Given the description of an element on the screen output the (x, y) to click on. 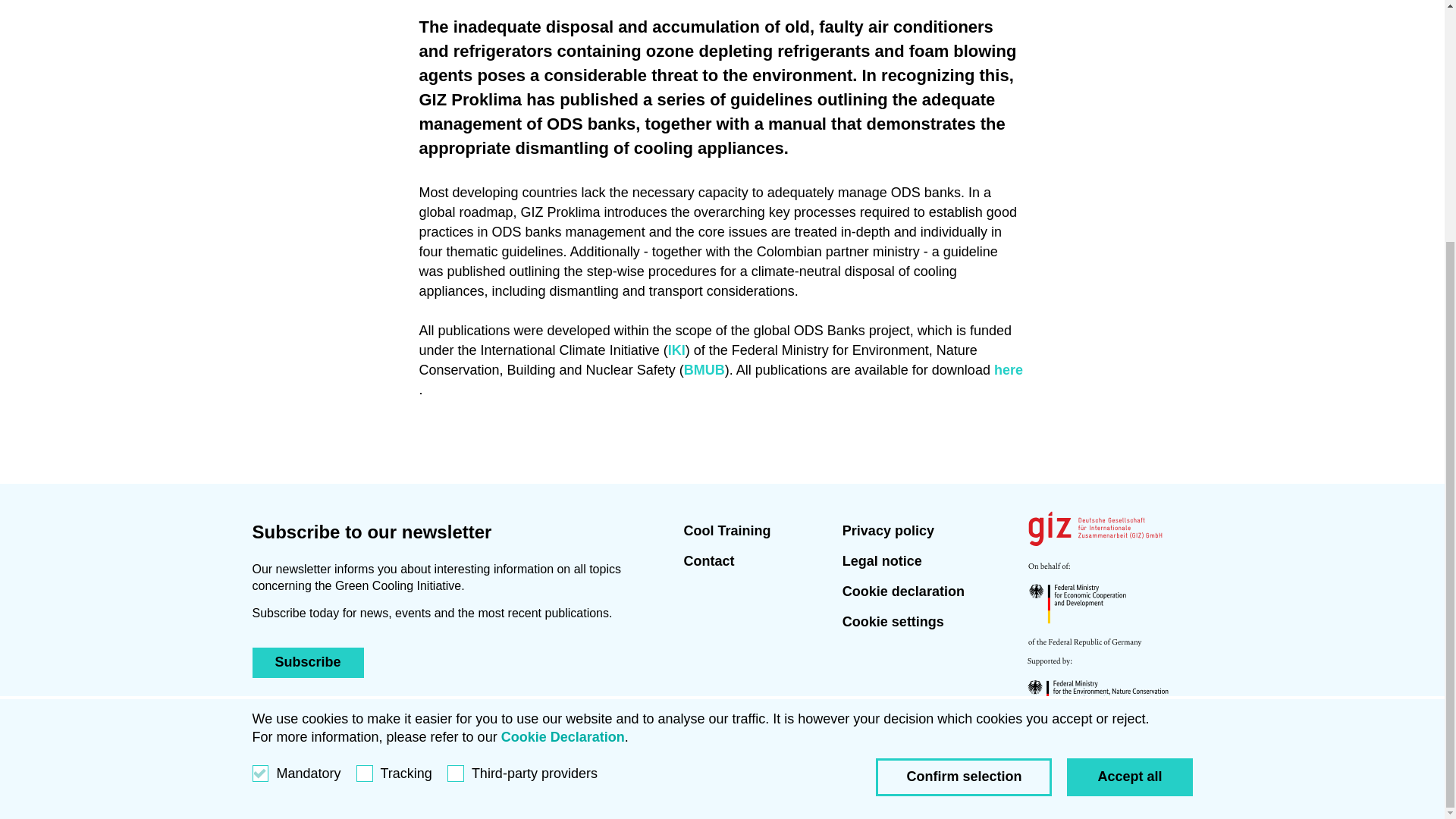
Opens external link in new window (1008, 369)
Opens external link in new window (676, 350)
Opens external link in new window (704, 369)
